Given the description of an element on the screen output the (x, y) to click on. 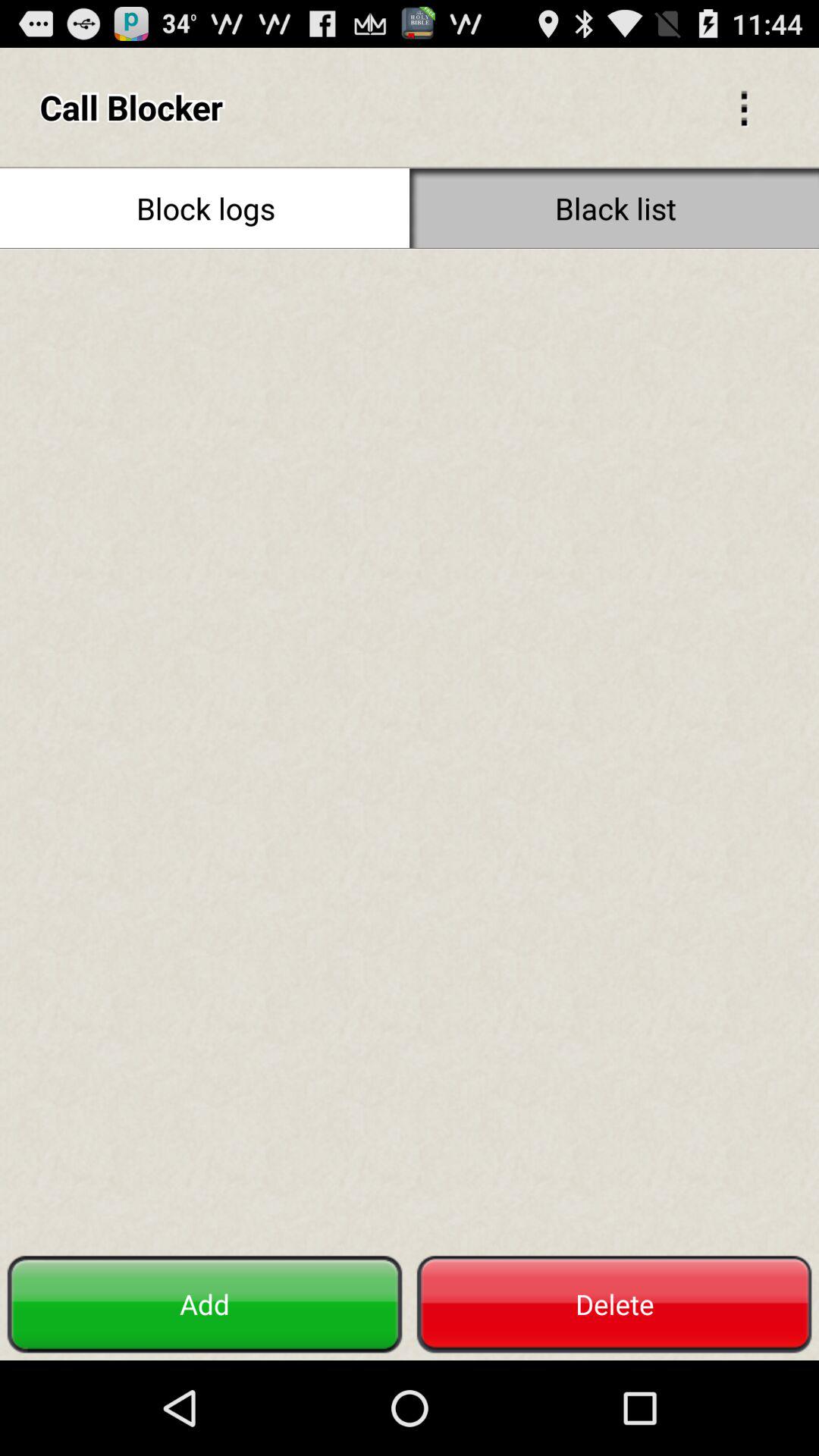
flip to the block logs (204, 207)
